Given the description of an element on the screen output the (x, y) to click on. 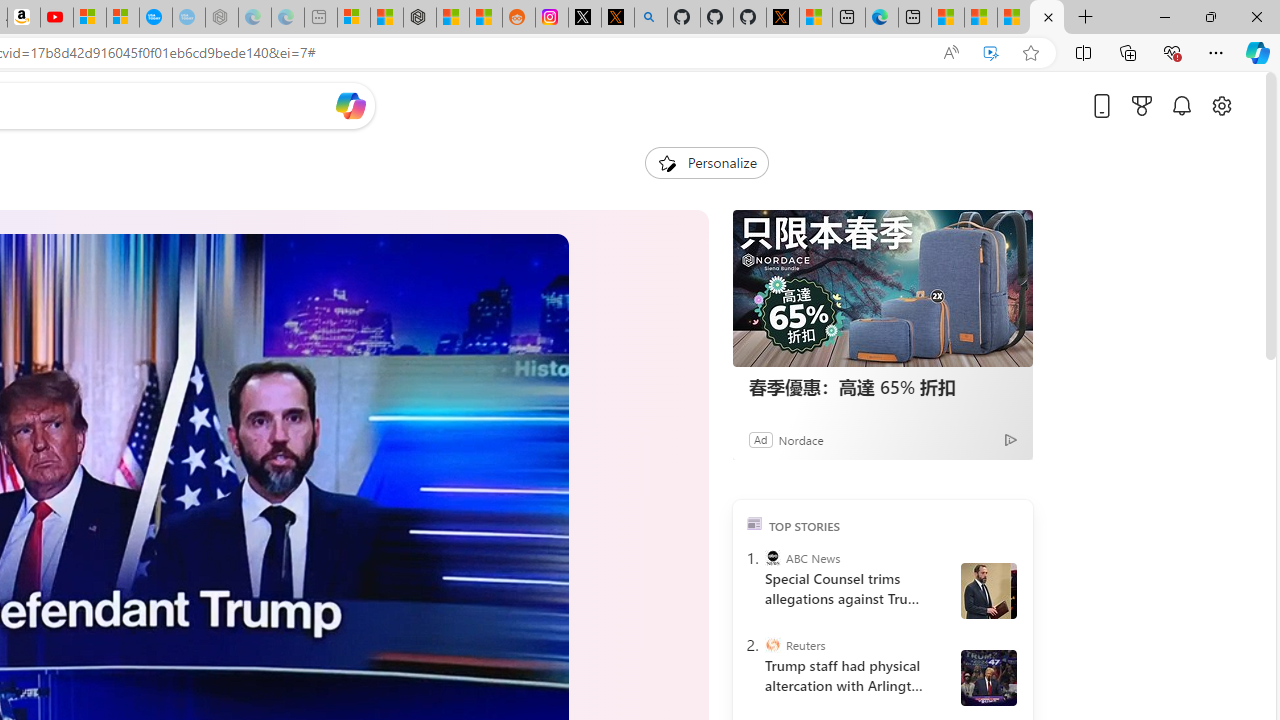
Nordace - Duffels (420, 17)
Day 1: Arriving in Yemen (surreal to be here) - YouTube (56, 17)
New tab - Sleeping (320, 17)
Shanghai, China Weather trends | Microsoft Weather (485, 17)
Notifications (1181, 105)
Open settings (1221, 105)
Ad Choice (1010, 439)
ABC News (772, 557)
github - Search (650, 17)
